Given the description of an element on the screen output the (x, y) to click on. 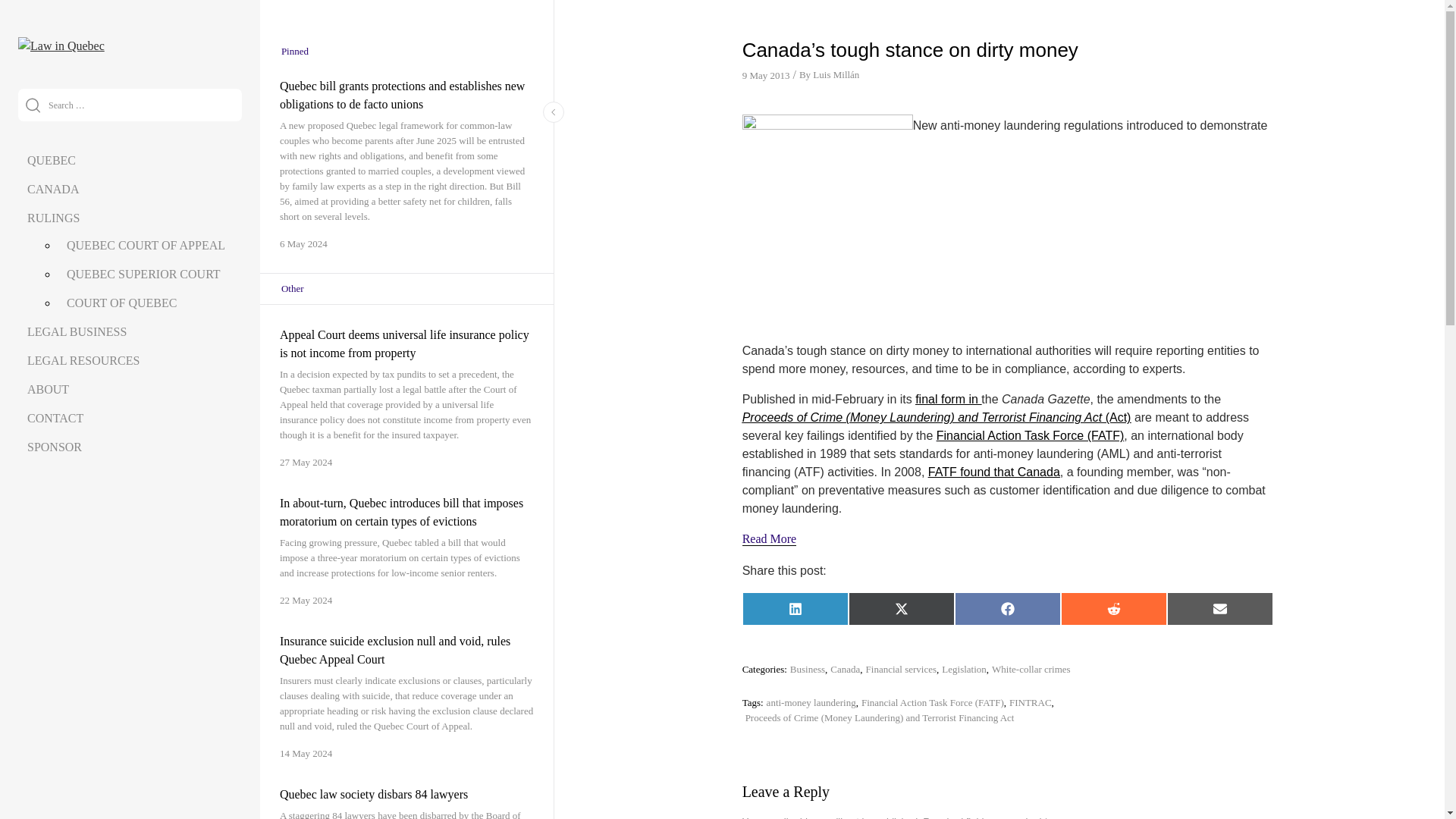
final form in (948, 399)
QUEBEC SUPERIOR COURT (143, 273)
ABOUT (47, 389)
SPONSOR (54, 446)
FATF found that Canada (993, 472)
COURT OF QUEBEC (121, 302)
CANADA (52, 188)
CONTACT (54, 418)
QUEBEC COURT OF APPEAL (145, 245)
Read More (769, 539)
LEGAL BUSINESS (76, 331)
LEGAL RESOURCES (83, 359)
RULINGS (53, 217)
QUEBEC (51, 160)
